Given the description of an element on the screen output the (x, y) to click on. 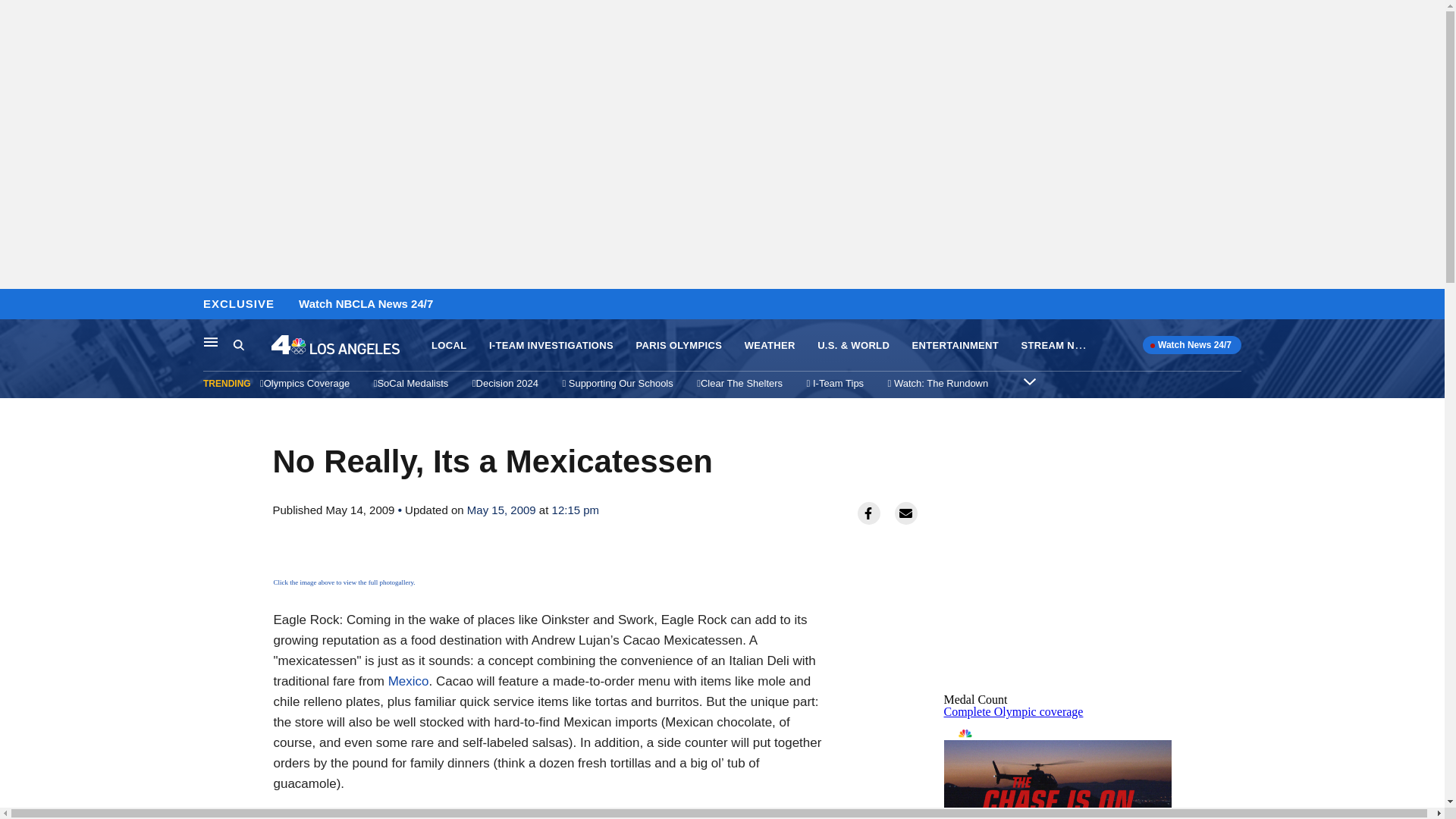
Main Navigation (210, 341)
Mexico (408, 681)
WEATHER (769, 345)
Complete Olympic coverage (1013, 711)
Click the image above to view the full photogallery. (343, 582)
Search (1056, 768)
PARIS OLYMPICS (252, 345)
Mexico (678, 345)
Expand (408, 681)
